Given the description of an element on the screen output the (x, y) to click on. 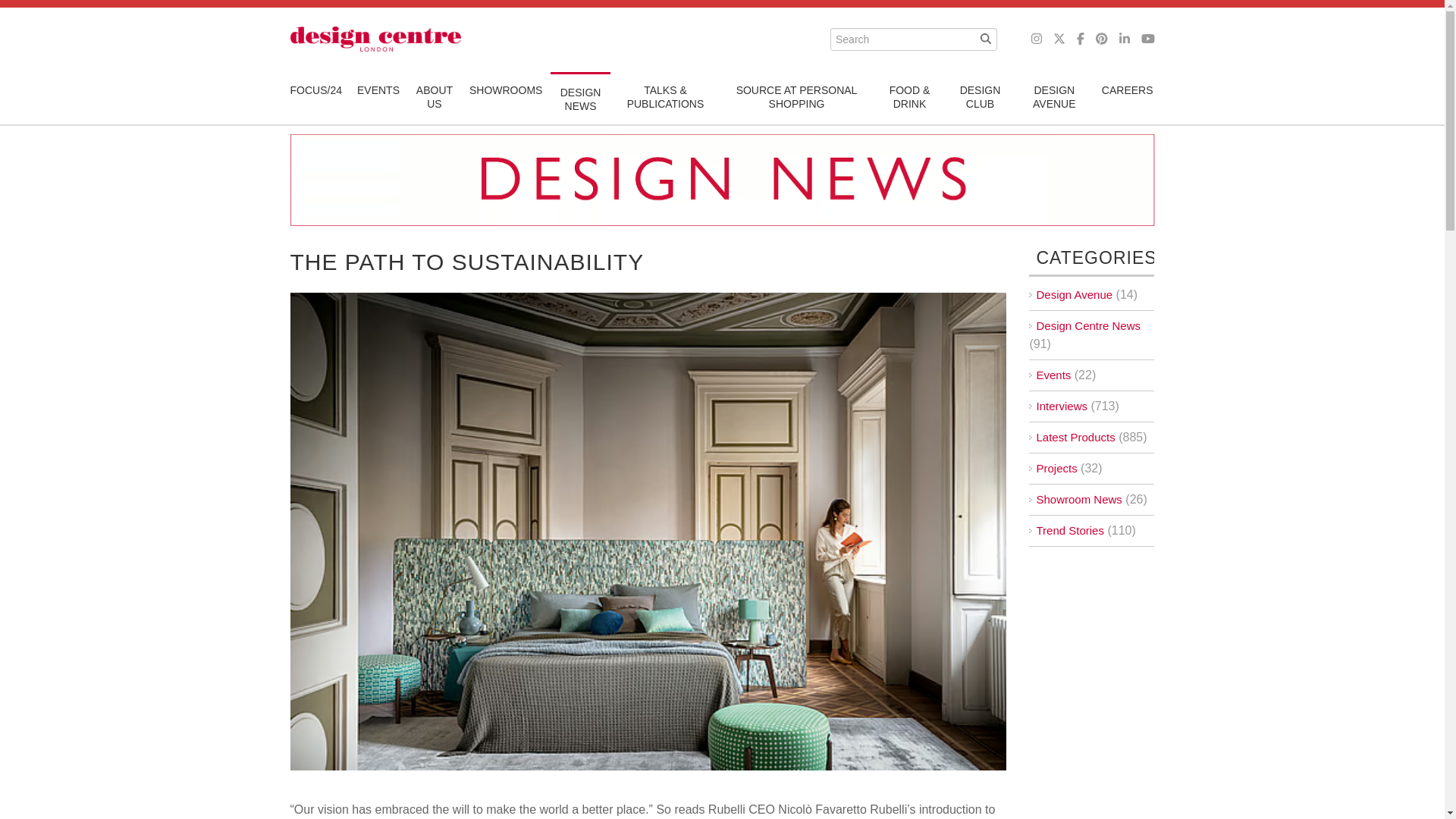
DCCH logo (374, 38)
About Us (434, 97)
Events (378, 90)
